Given the description of an element on the screen output the (x, y) to click on. 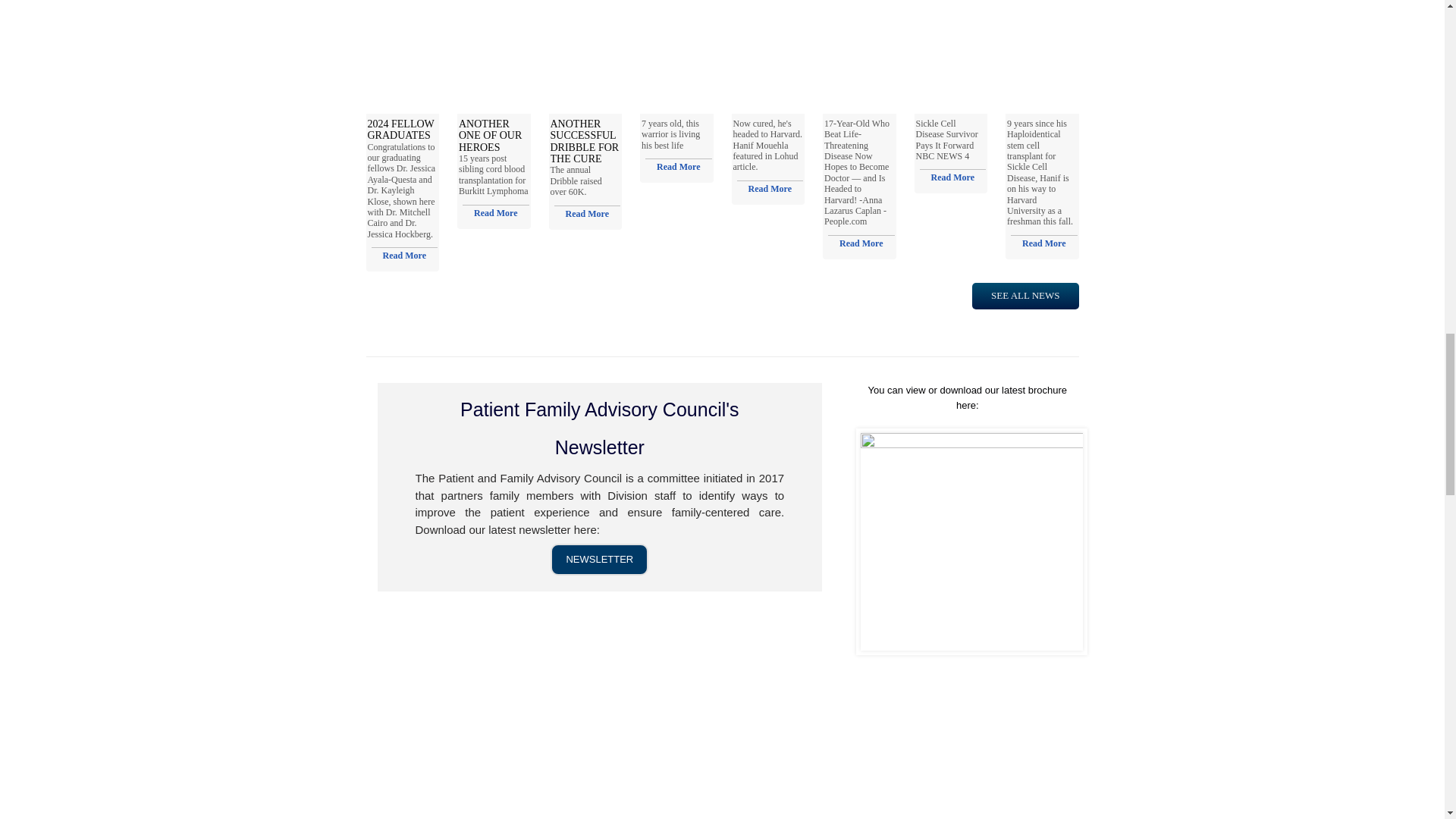
2024 Fellow Graduates (404, 254)
Another Successful Dribble for The Cure (585, 140)
Another one of our Heroes (489, 135)
Another Successful Dribble for The Cure (587, 213)
2024 Fellow Graduates (399, 128)
Another one of our Heroes (495, 212)
